Given the description of an element on the screen output the (x, y) to click on. 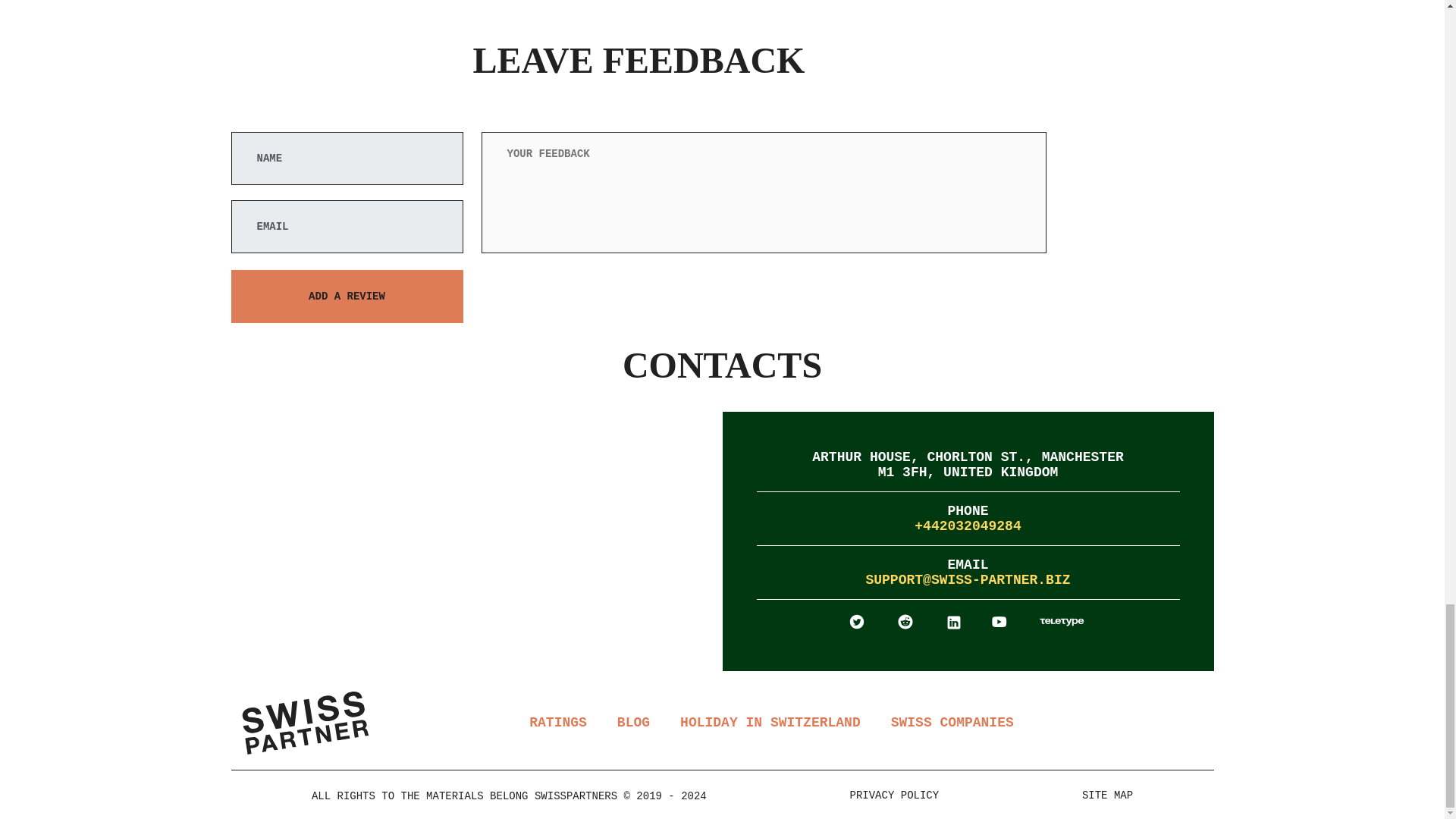
Twitter (856, 621)
SWISS COMPANIES (952, 722)
Linkedin (955, 620)
Teletype (1062, 620)
Reddit (905, 621)
Add a review (346, 296)
Linkedin (953, 622)
RATINGS (557, 722)
YouTube (1001, 620)
Reddit (907, 620)
HOLIDAY IN SWITZERLAND (769, 722)
PRIVACY POLICY (894, 795)
Add a review (346, 296)
YouTube (999, 621)
SITE MAP (1106, 795)
